Given the description of an element on the screen output the (x, y) to click on. 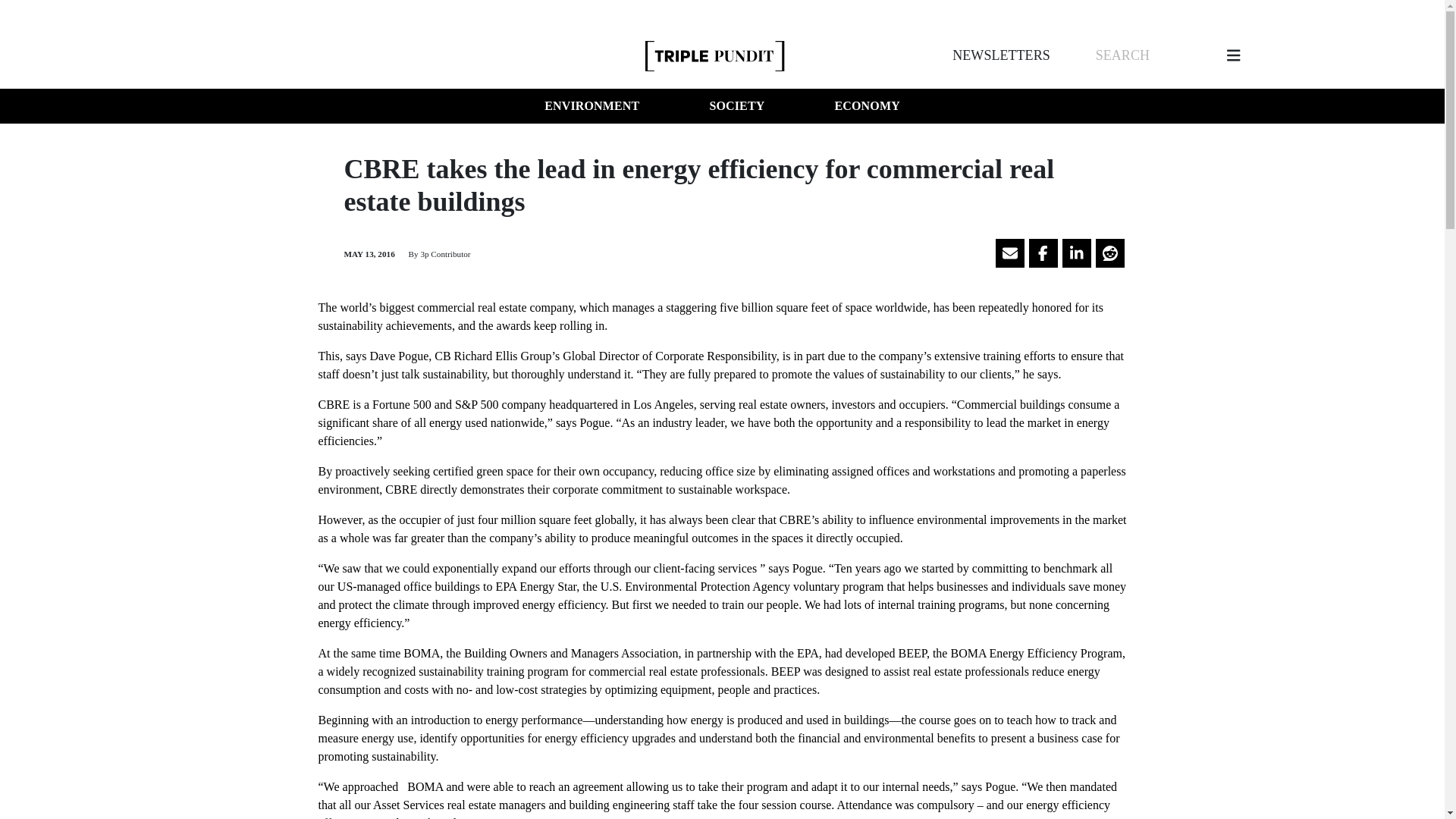
SEARCH (1122, 55)
By 3p Contributor (438, 253)
ENVIRONMENT (591, 105)
ECONOMY (866, 105)
SOCIETY (736, 105)
